Given the description of an element on the screen output the (x, y) to click on. 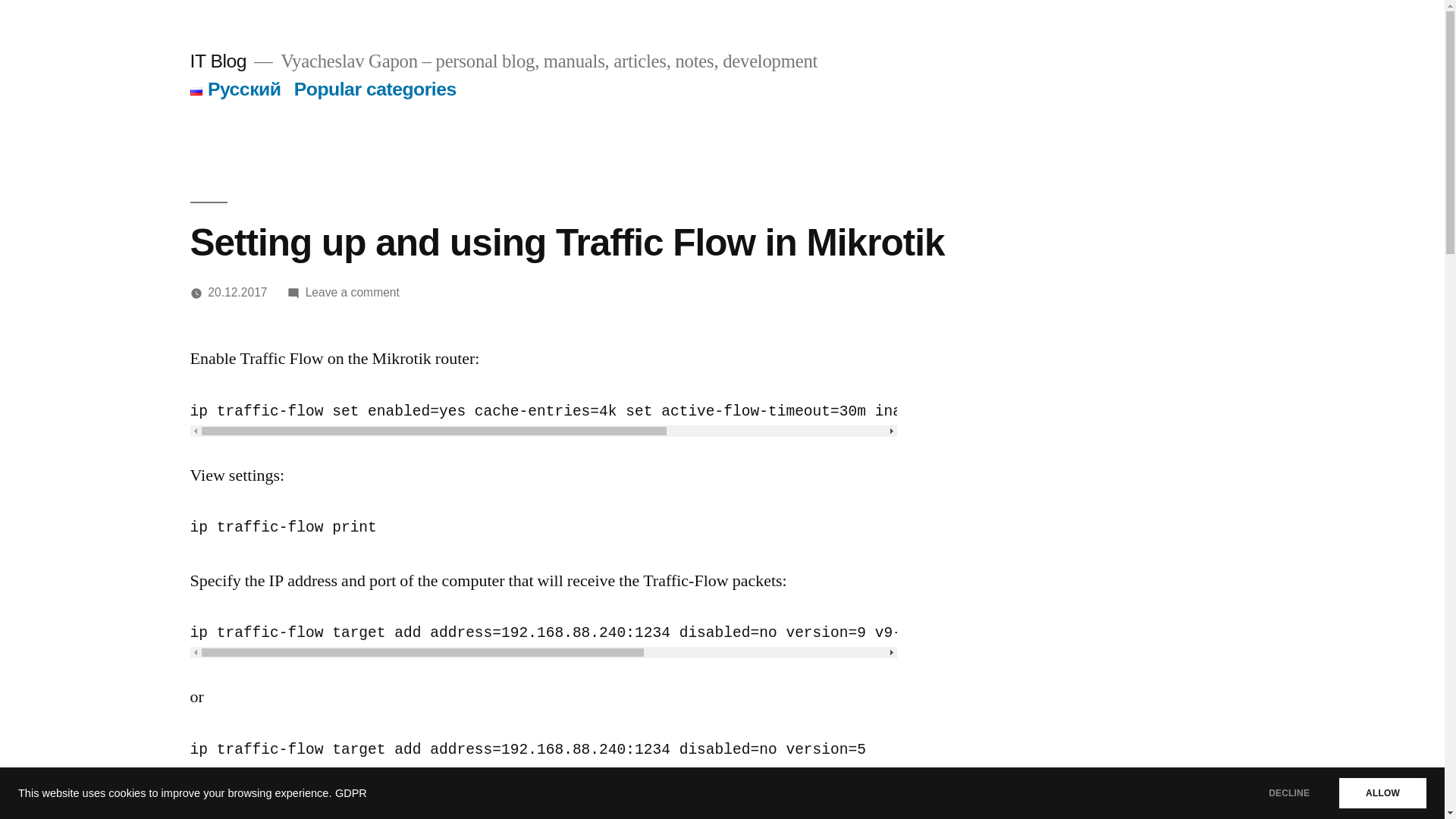
IT Blog (217, 60)
GDPR (350, 793)
20.12.2017 (237, 291)
DECLINE (1288, 793)
ALLOW (1382, 793)
Popular categories (375, 88)
